Given the description of an element on the screen output the (x, y) to click on. 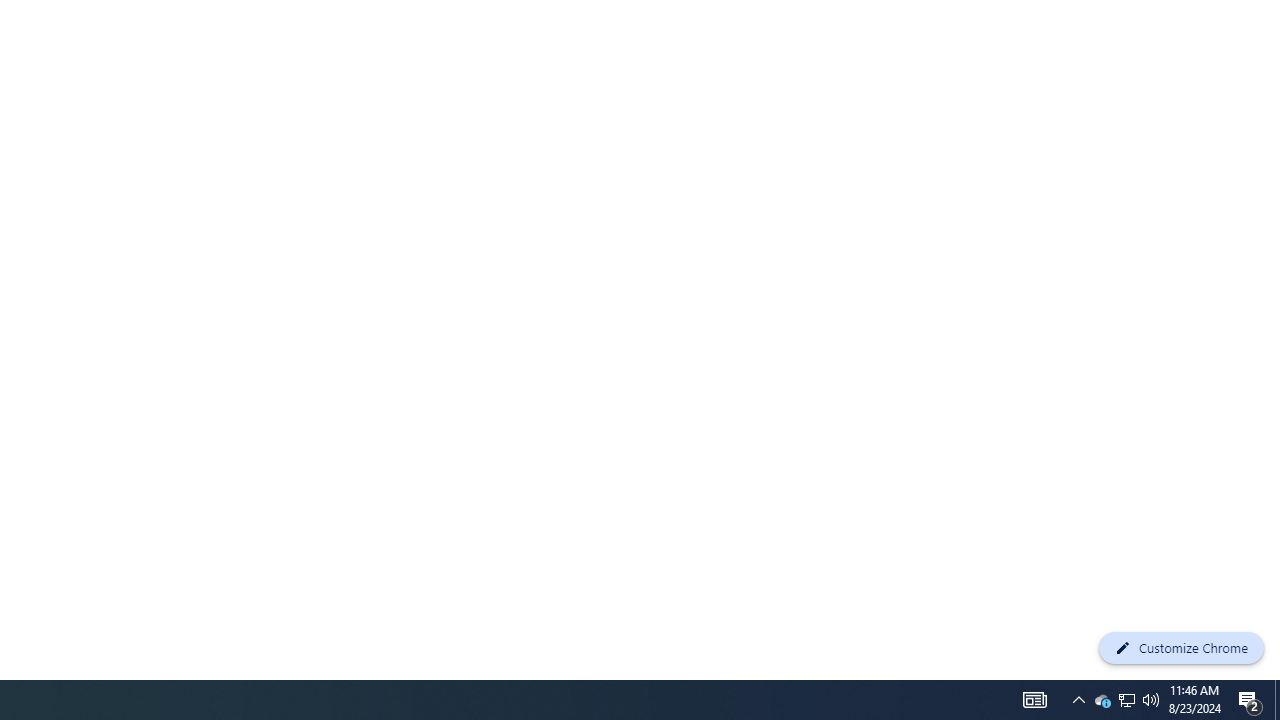
Customize Chrome (1181, 647)
